Given the description of an element on the screen output the (x, y) to click on. 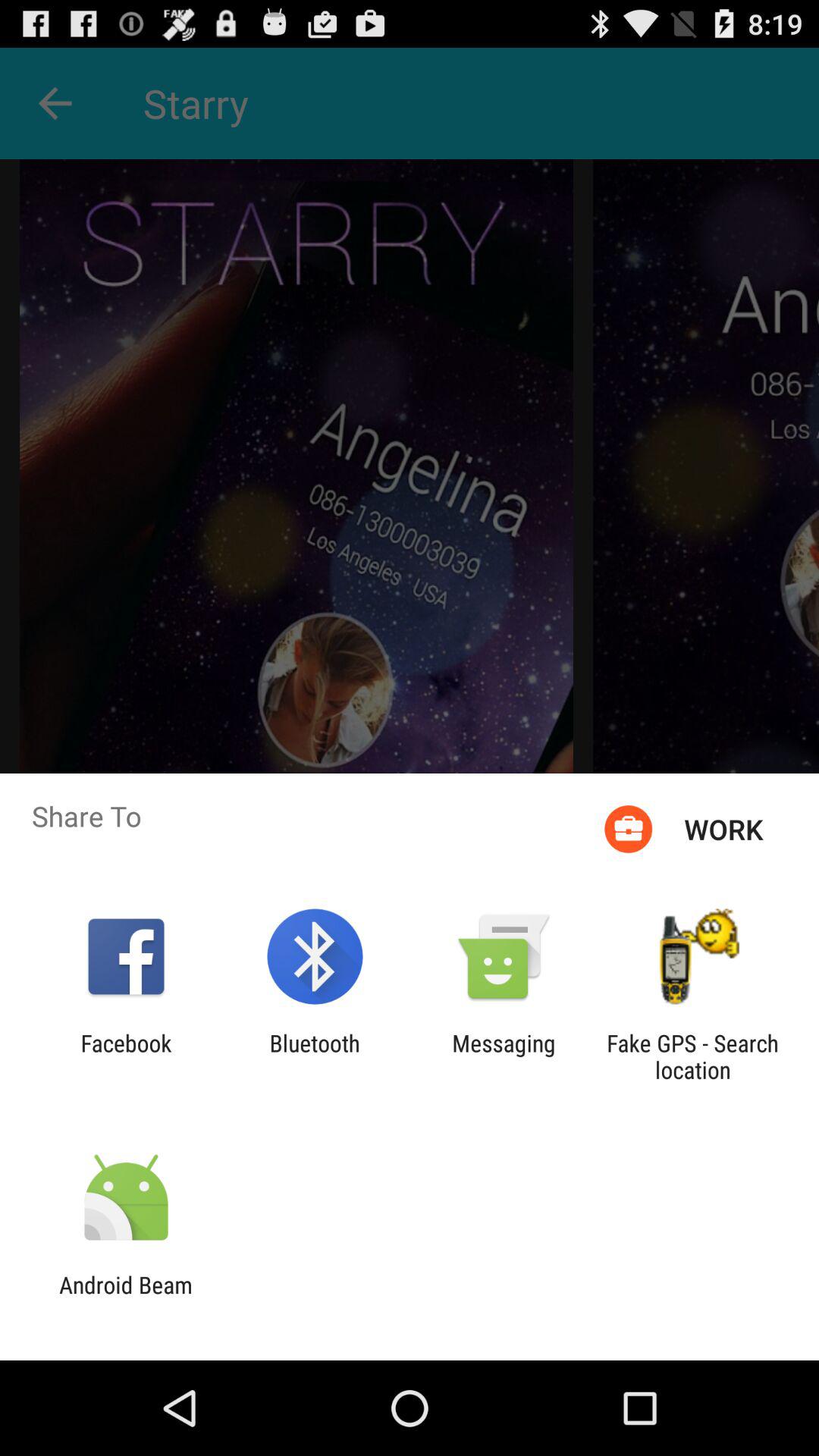
open item to the left of fake gps search app (503, 1056)
